Given the description of an element on the screen output the (x, y) to click on. 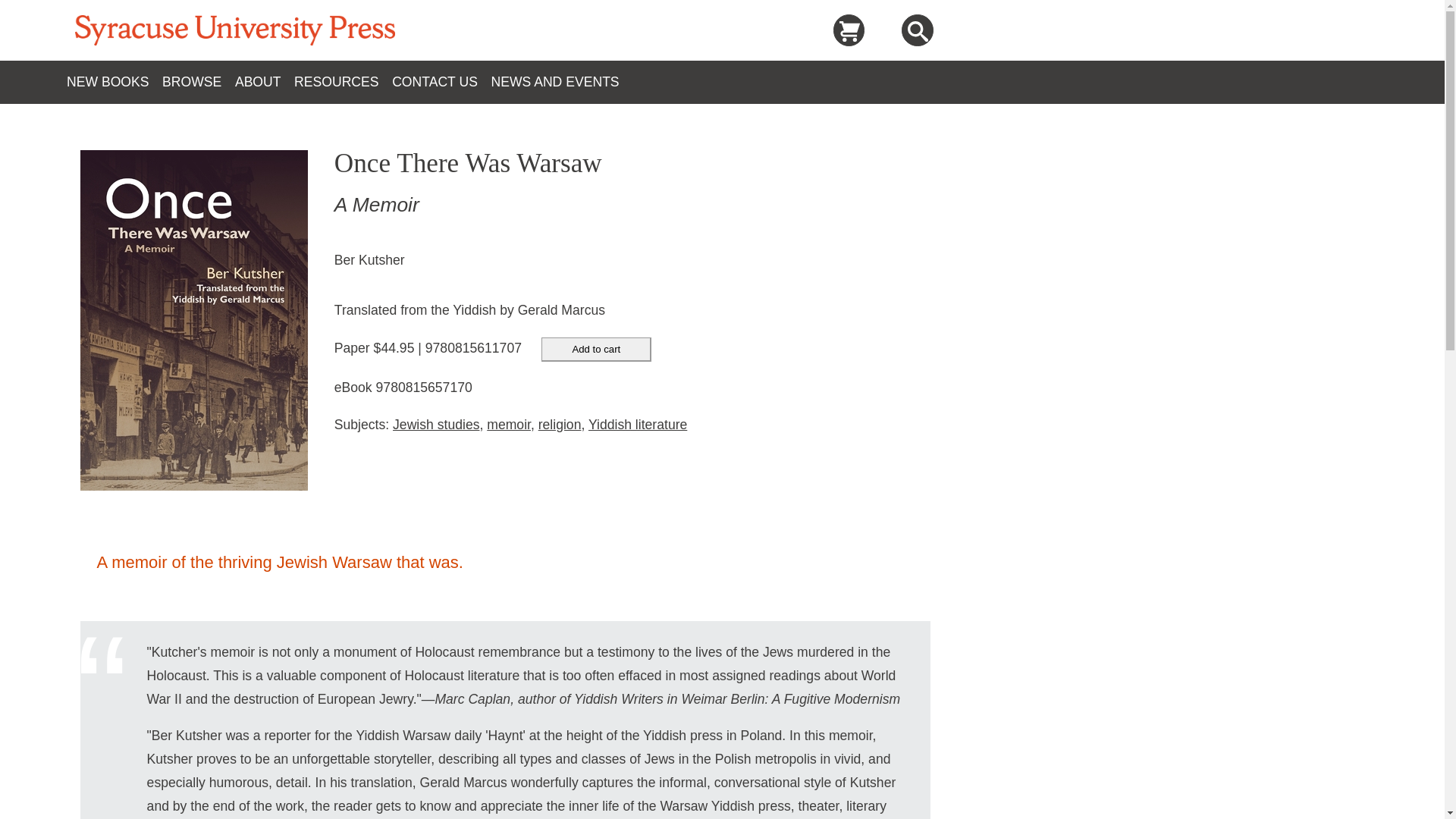
NEWS AND EVENTS (560, 82)
open cartGo to cart (850, 31)
religion (559, 424)
RESOURCES (342, 82)
open cartGo to cart (848, 29)
site searchSearch the site (917, 29)
ABOUT (264, 82)
Yiddish literature (637, 424)
CONTACT US (440, 82)
Add to cart (595, 349)
NEW BOOKS (113, 82)
memoir (508, 424)
Jewish studies (436, 424)
BROWSE (197, 82)
site searchSearch the site (917, 31)
